Given the description of an element on the screen output the (x, y) to click on. 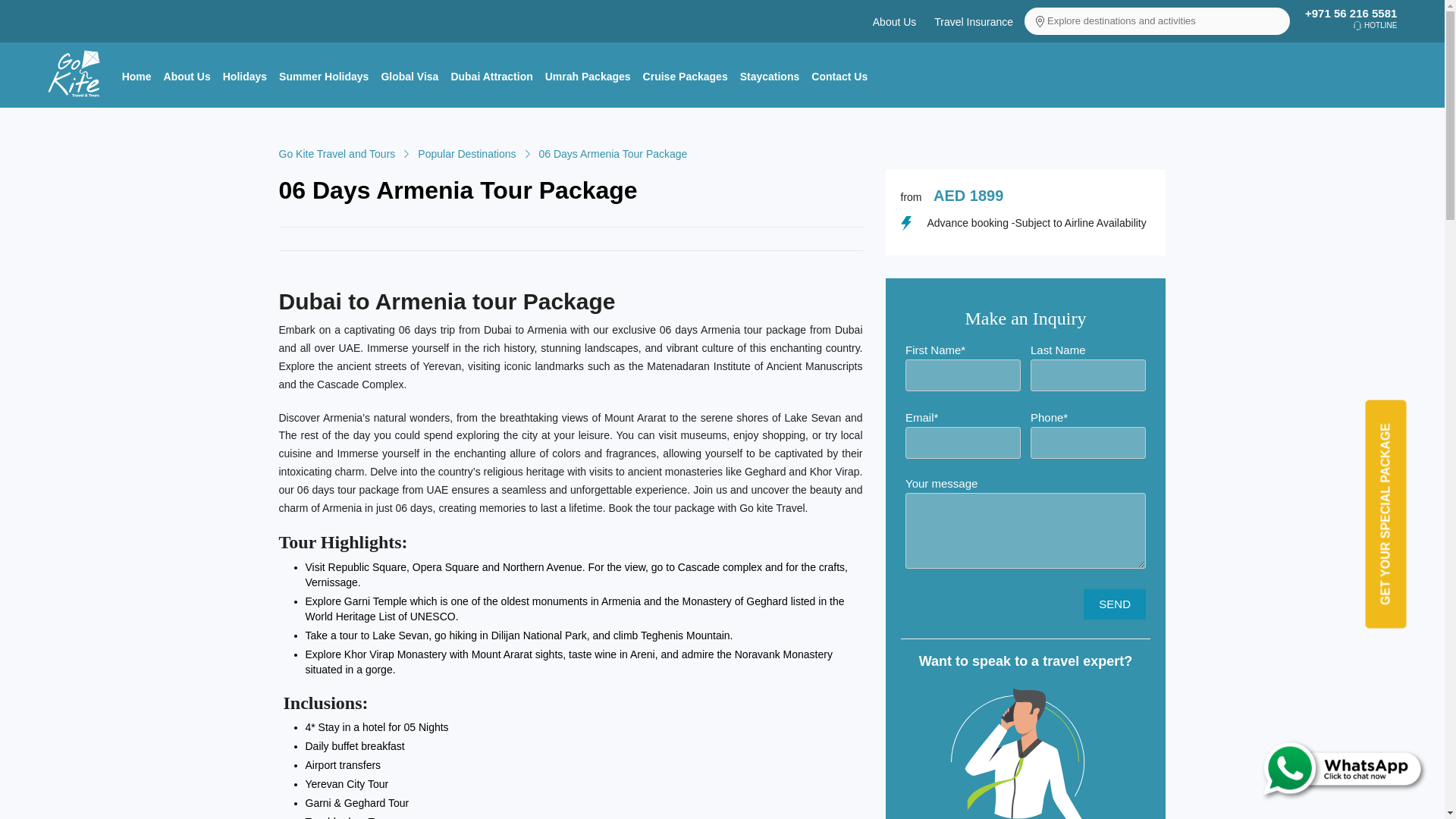
Holidays (244, 76)
Staycations (769, 76)
Popular Destinations (466, 153)
Send (1114, 603)
Send (1114, 603)
Go to Popular Destinations. (466, 153)
Home (136, 76)
Send whatsApp message (1315, 767)
Go to Go Kite Travel and Tours. (337, 153)
About Us (186, 76)
